Given the description of an element on the screen output the (x, y) to click on. 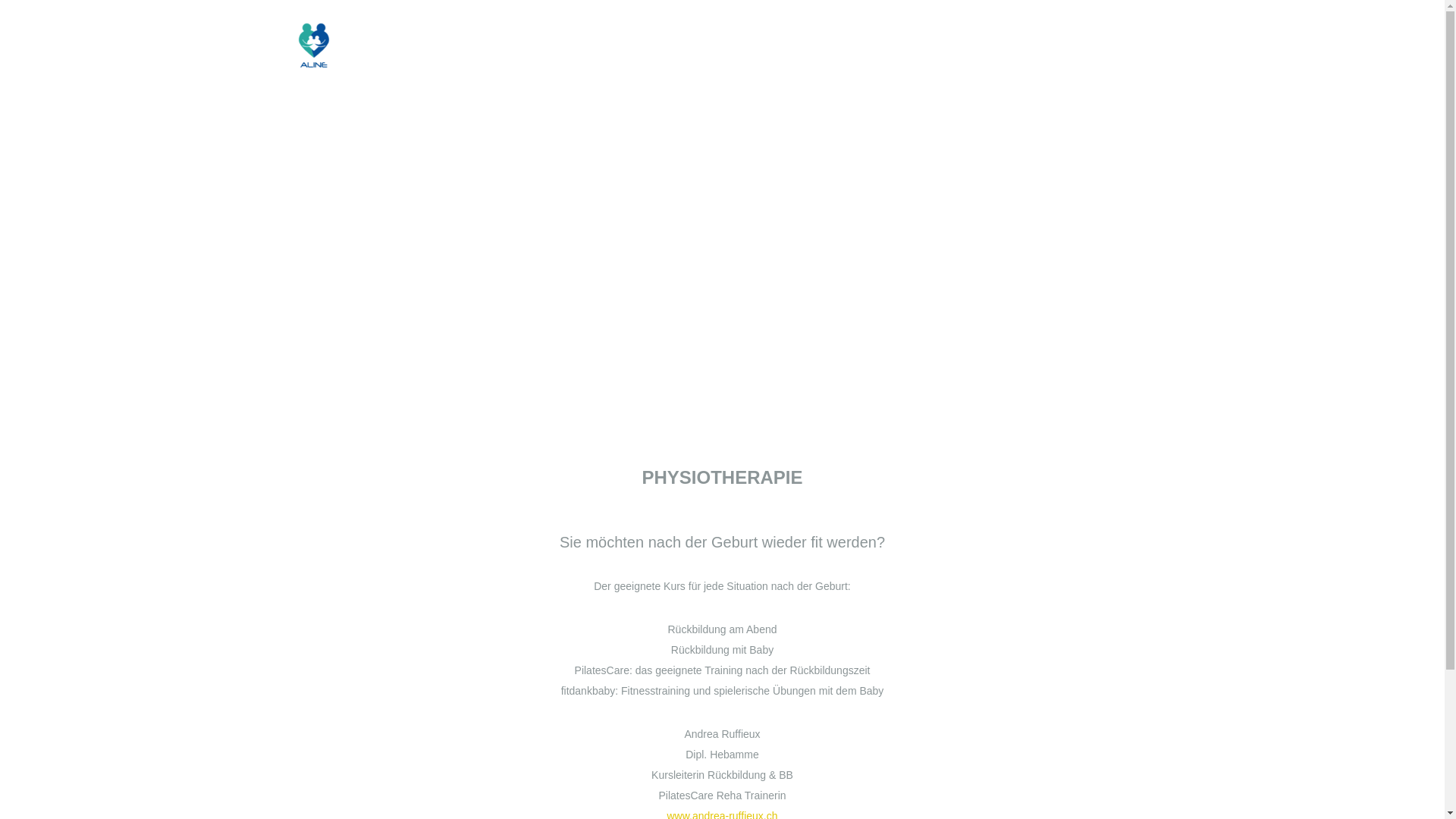
KONTAKT Element type: text (1125, 44)
KOOPERATIONEN Element type: text (1013, 44)
KURSE Element type: text (809, 46)
